Given the description of an element on the screen output the (x, y) to click on. 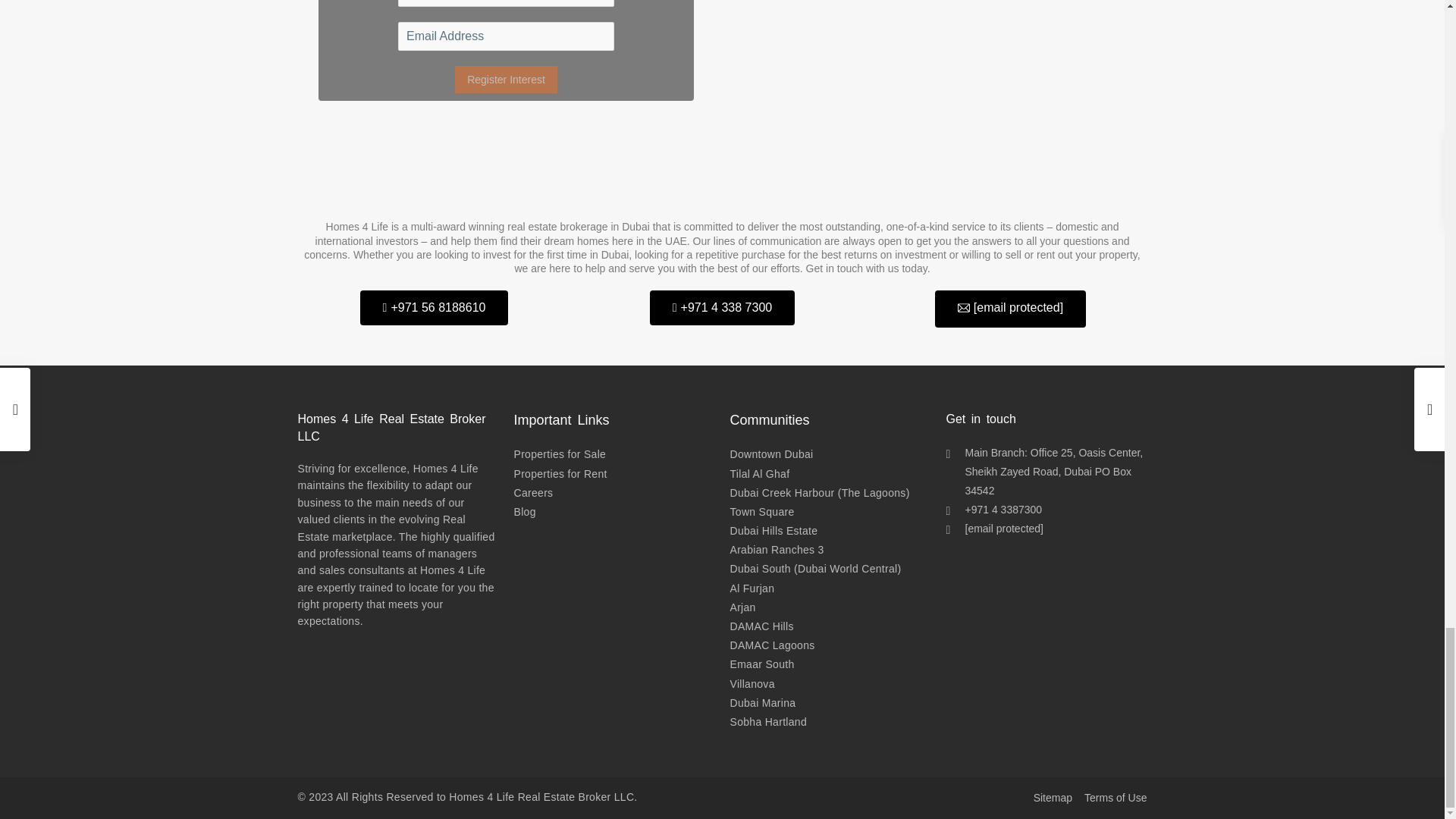
Tilal Al Ghaf (759, 473)
Arjan (742, 607)
Register Interest (505, 79)
DAMAC Lagoons (771, 645)
Arabian Ranches 3 (776, 549)
Sitemap (1052, 797)
Sobha Hartland (767, 721)
Properties for Sale (560, 453)
Properties for Rent (560, 473)
Dubai Marina (761, 702)
Dubai Hills Estate (772, 530)
Careers (533, 492)
Emaar South (761, 664)
Homes 4 Life Logo black (721, 173)
